Given the description of an element on the screen output the (x, y) to click on. 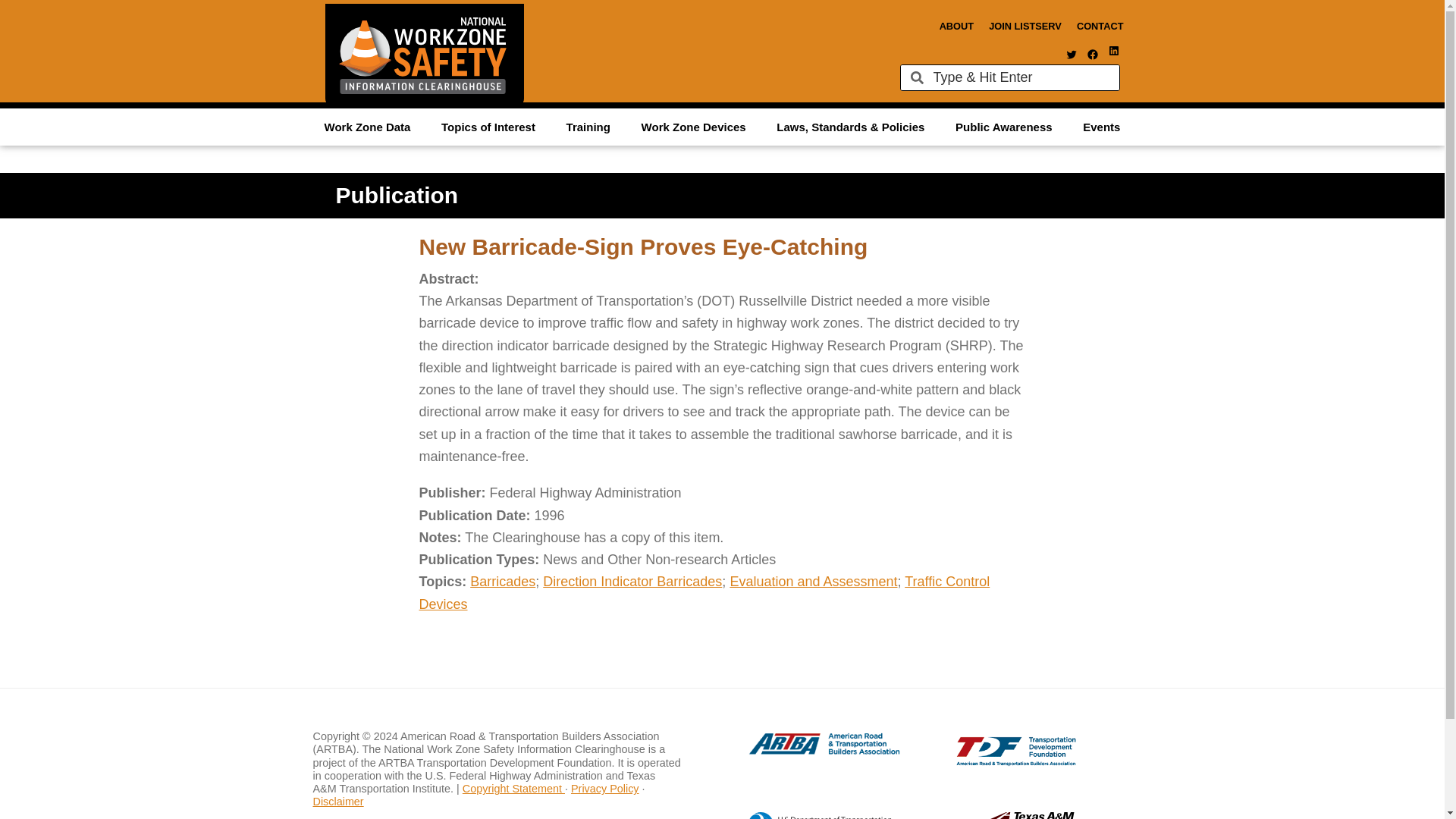
Topics of Interest (488, 126)
Events (1101, 126)
Barricades (502, 581)
FACEBOOK (1091, 54)
CONTACT (1100, 25)
Work Zone Devices (693, 126)
TWITTER (1070, 54)
ARTBA Transportation Development Foundation website (985, 761)
FHWA website (808, 815)
Work Zone Data (367, 126)
Search (1021, 77)
LINKEDIN (1112, 50)
JOIN LISTSERV (1024, 25)
ABOUT (956, 25)
